Given the description of an element on the screen output the (x, y) to click on. 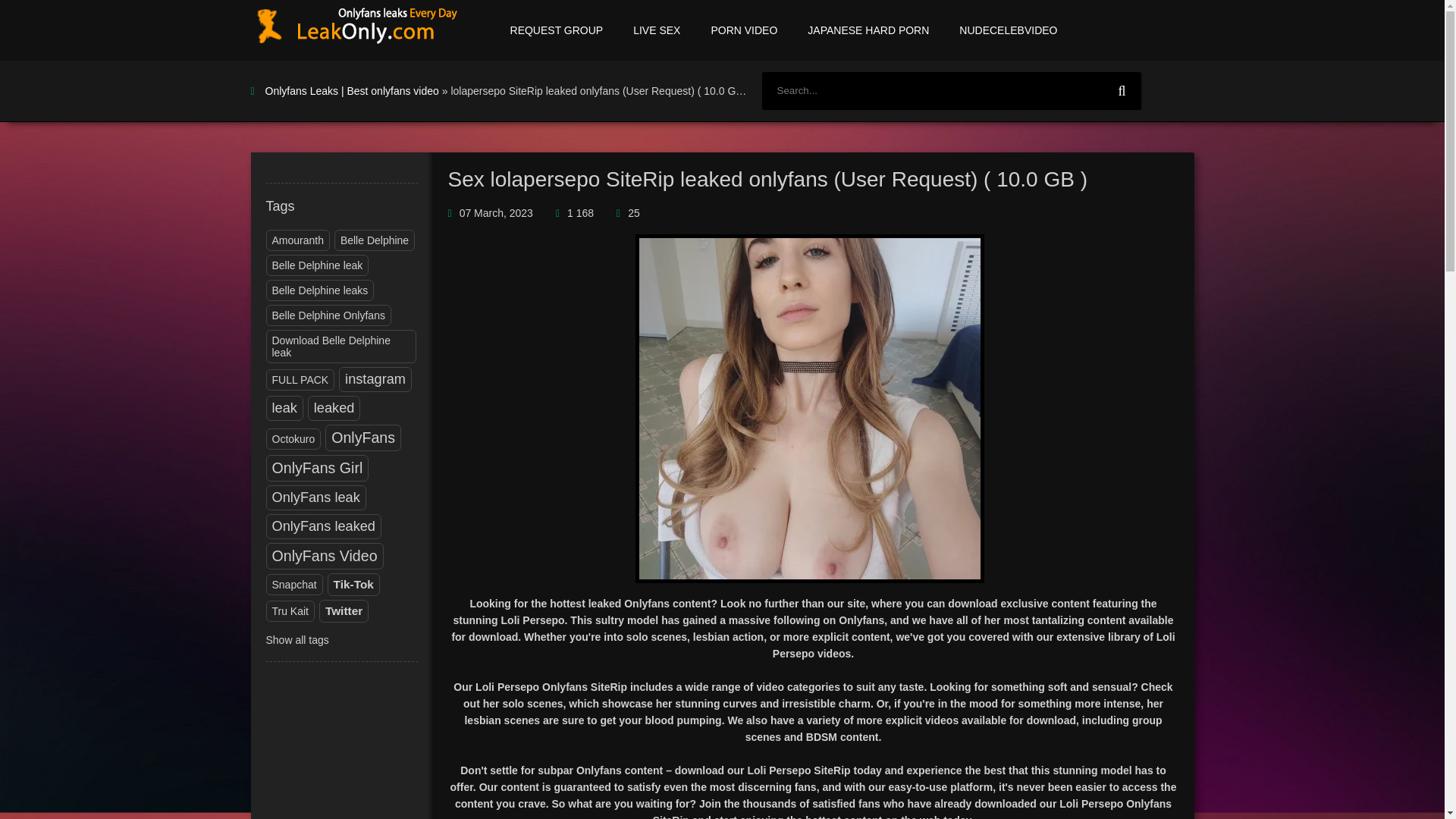
Publication found: 24 (293, 438)
Publication found: 23892 (284, 408)
Publication found: 23879 (315, 497)
Download Belle Delphine leak (340, 346)
PORN VIDEO (743, 30)
OnlyFans Girl (317, 467)
Publication found: 20973 (323, 526)
Publication found: 22 (320, 290)
Publication found: 23934 (324, 555)
OnlyFans (363, 437)
